Given the description of an element on the screen output the (x, y) to click on. 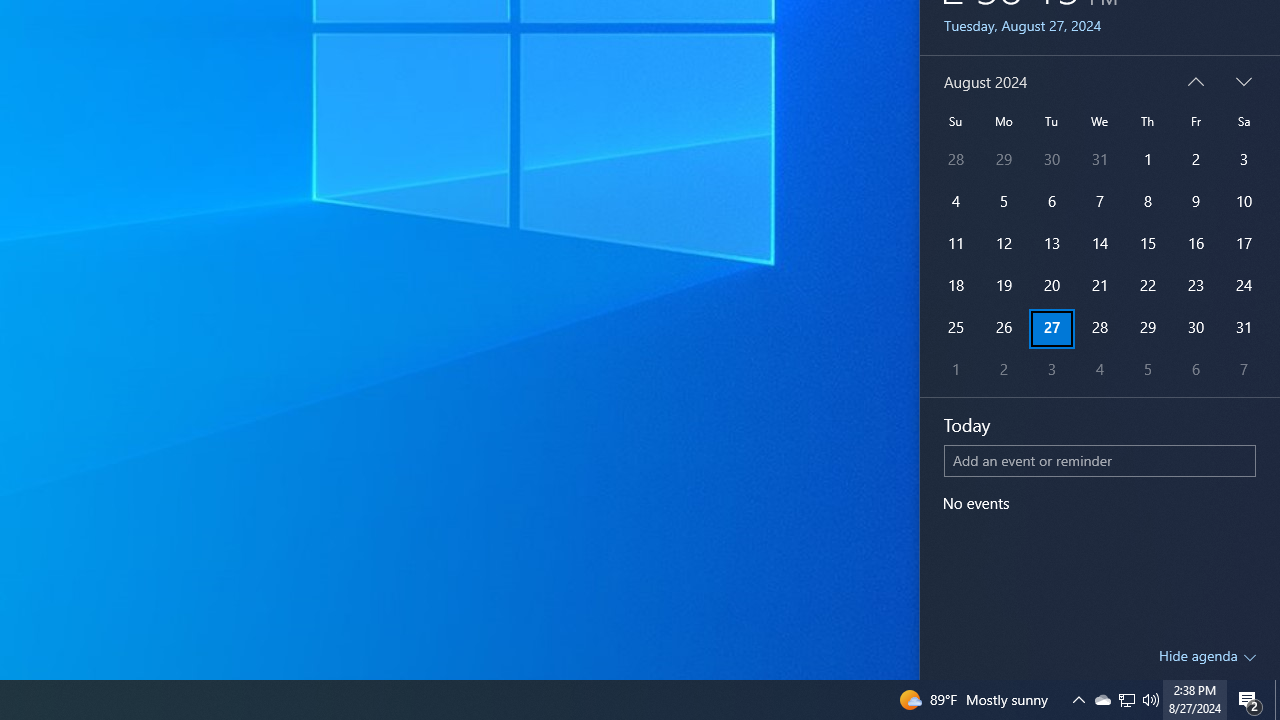
User Promoted Notification Area (1126, 699)
24 (1244, 286)
